Given the description of an element on the screen output the (x, y) to click on. 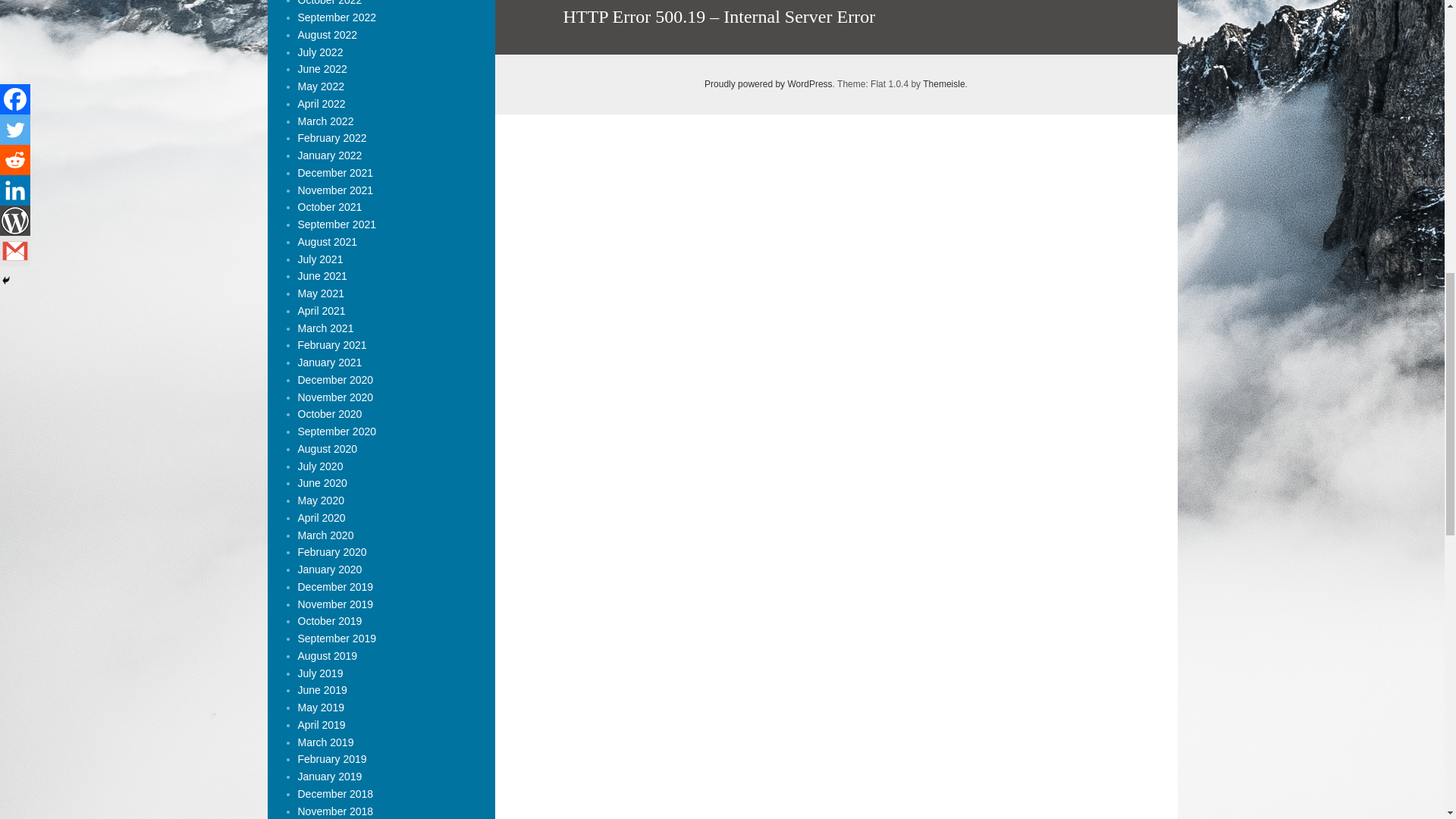
September 2022 (336, 17)
June 2022 (321, 69)
July 2022 (319, 51)
August 2022 (326, 34)
Semantic Personal Publishing Platform (768, 83)
October 2022 (329, 2)
May 2022 (320, 86)
April 2022 (321, 103)
March 2022 (325, 121)
Flat WordPress Theme (943, 83)
